Given the description of an element on the screen output the (x, y) to click on. 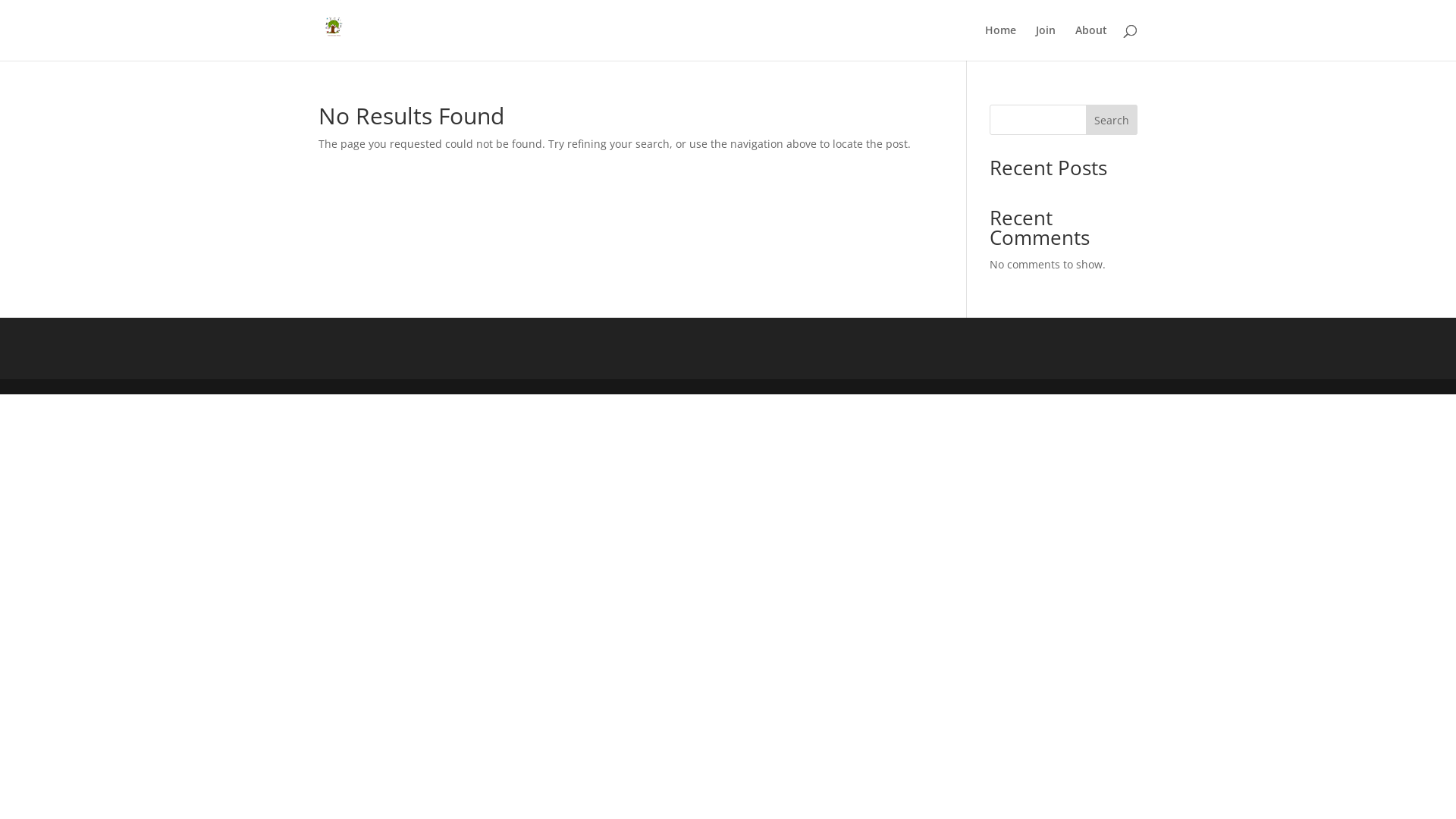
About Element type: text (1091, 42)
Join Element type: text (1045, 42)
Home Element type: text (1000, 42)
Search Element type: text (1111, 119)
